Given the description of an element on the screen output the (x, y) to click on. 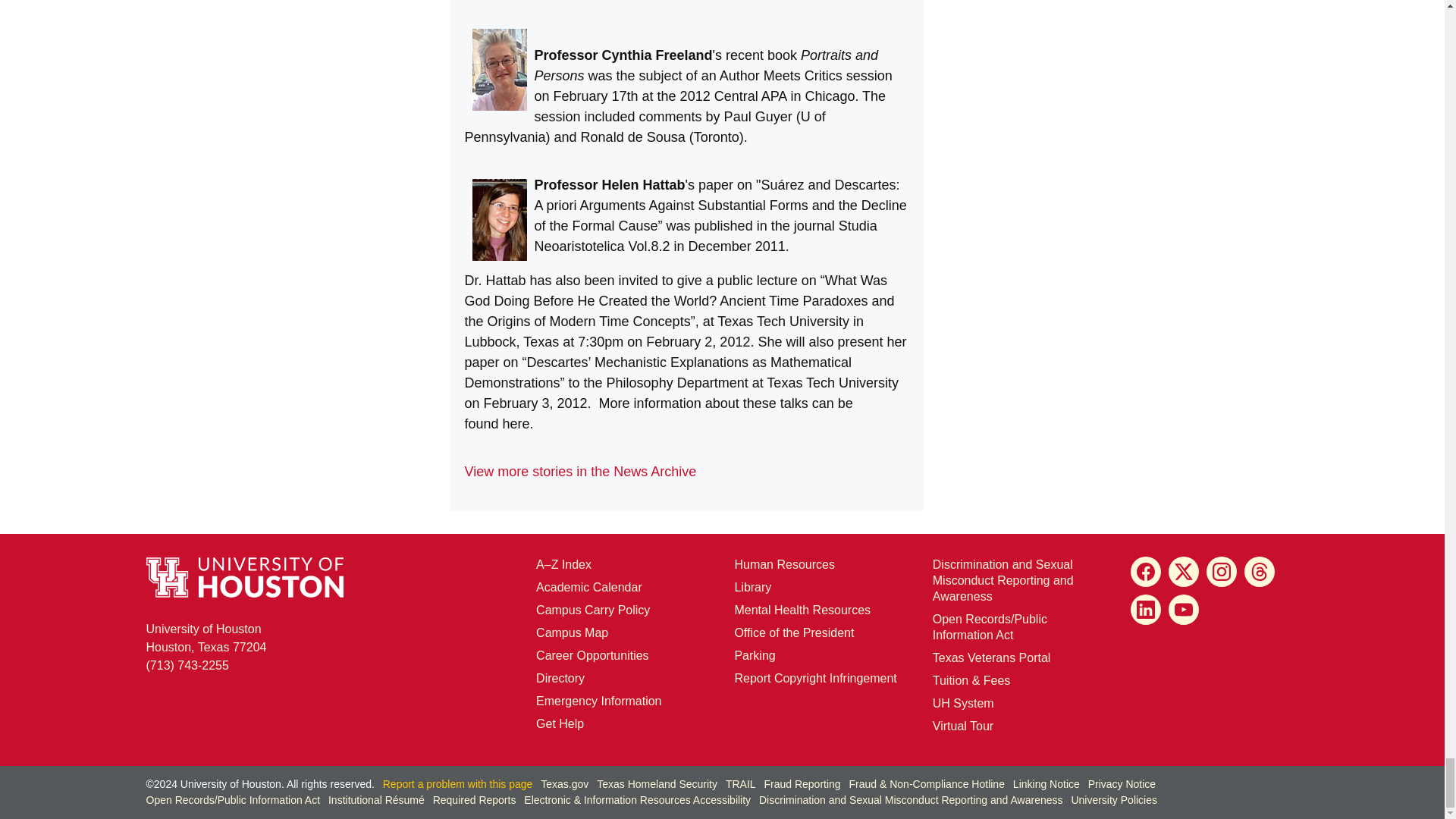
link to News Archive (579, 471)
X (1183, 571)
YouTube (1183, 609)
University of Houston (941, 703)
Instagram (1221, 571)
Threads (1259, 571)
LinkedIn (1145, 609)
Facebook (1145, 571)
